Given the description of an element on the screen output the (x, y) to click on. 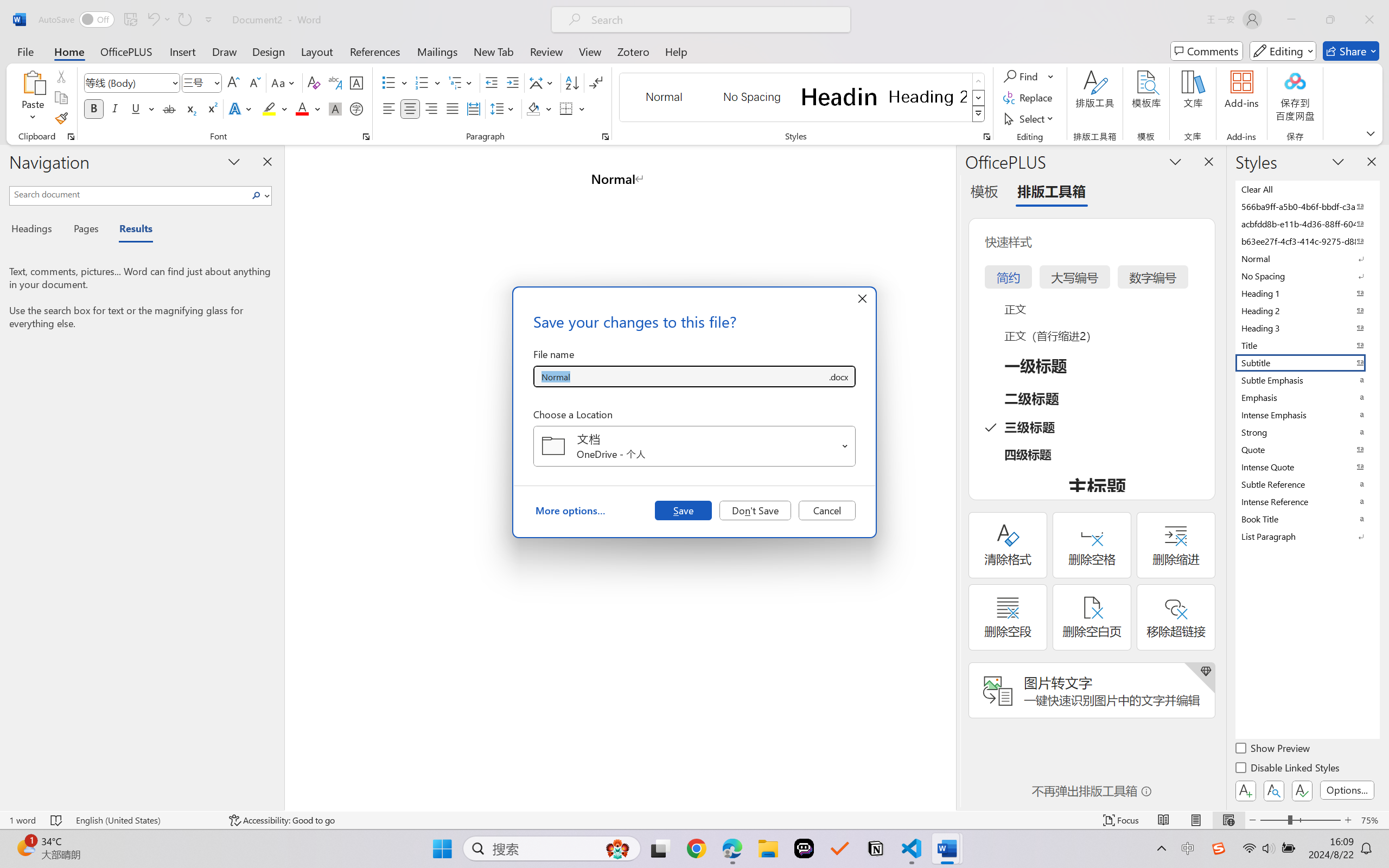
Emphasis (1306, 397)
Undo Style (152, 19)
Search document (128, 193)
Row Down (978, 97)
Find (1022, 75)
Find (1029, 75)
Grow Font (233, 82)
Read Mode (1163, 819)
Share (1350, 51)
